Given the description of an element on the screen output the (x, y) to click on. 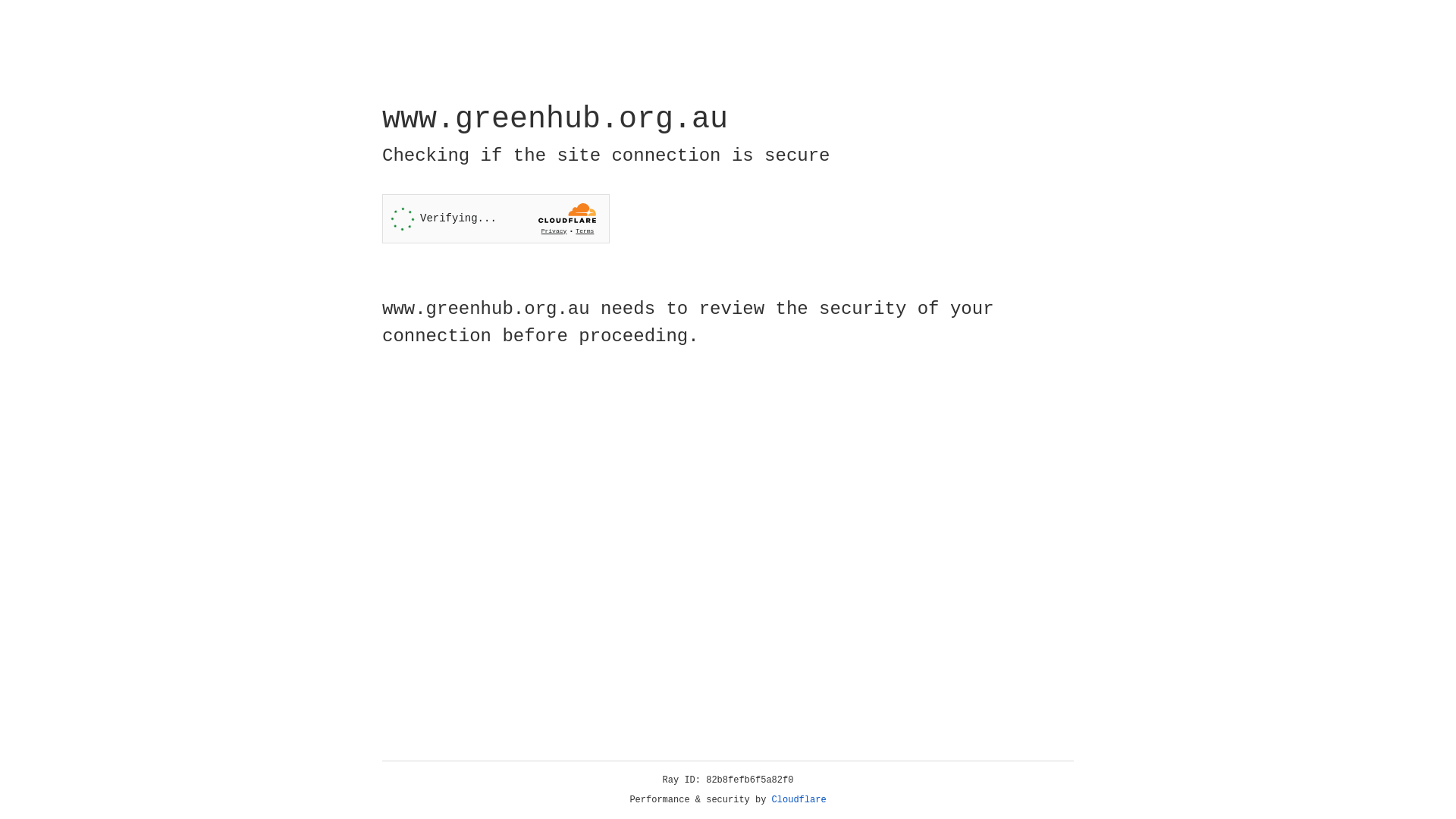
Cloudflare Element type: text (798, 799)
Widget containing a Cloudflare security challenge Element type: hover (495, 218)
